Given the description of an element on the screen output the (x, y) to click on. 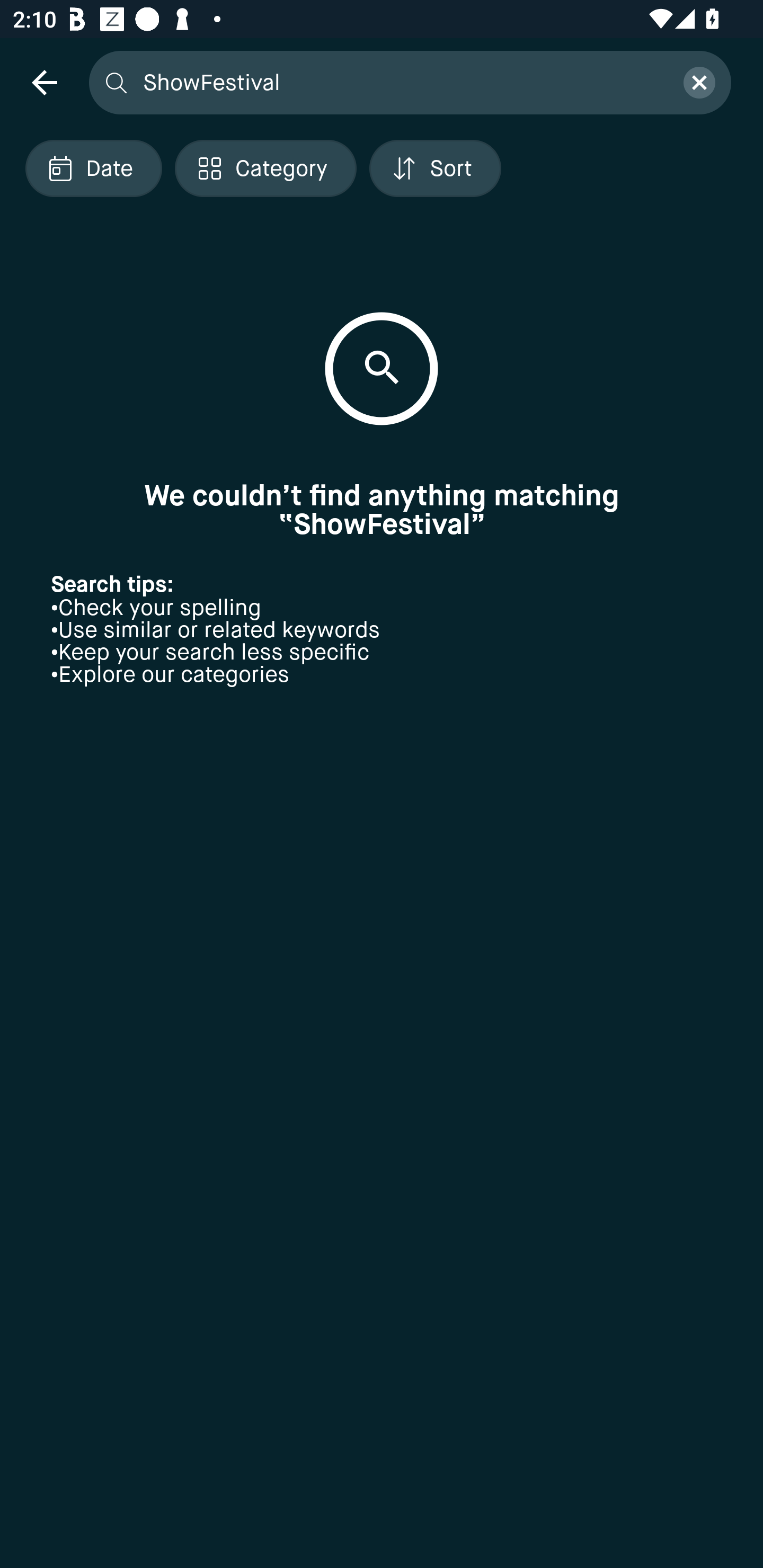
navigation icon (44, 81)
ShowFestival (402, 81)
Localized description Date (93, 168)
Localized description Category (265, 168)
Localized description Sort (435, 168)
We couldn’t find anything matching “ShowFestival” (381, 509)
